Given the description of an element on the screen output the (x, y) to click on. 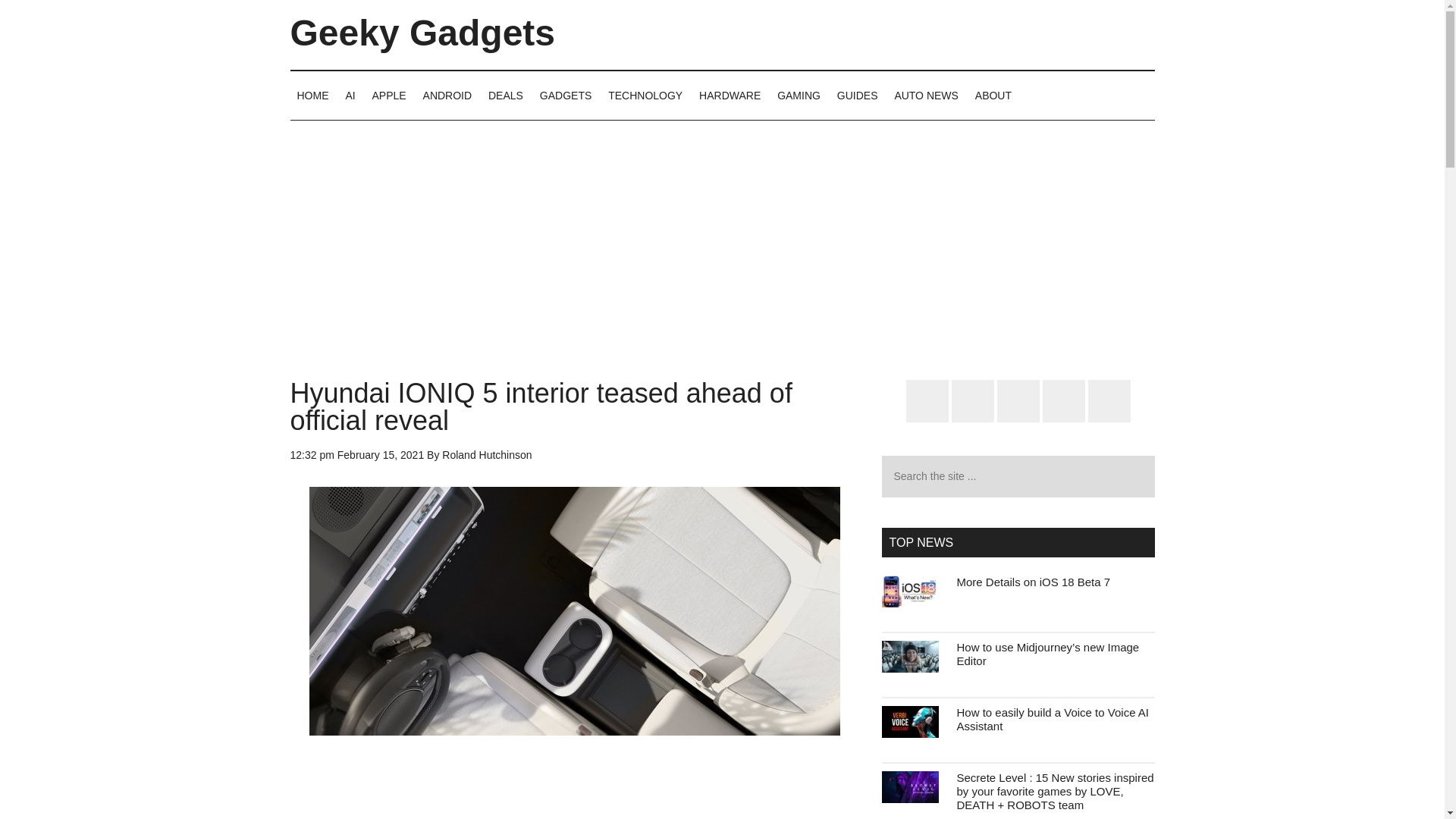
Roland Hutchinson (486, 454)
HARDWARE (730, 95)
AUTO NEWS (925, 95)
ANDROID (447, 95)
More Details on iOS 18 Beta 7 (1033, 581)
How to easily build a Voice to Voice AI Assistant (1052, 718)
HOME (311, 95)
GADGETS (565, 95)
